Given the description of an element on the screen output the (x, y) to click on. 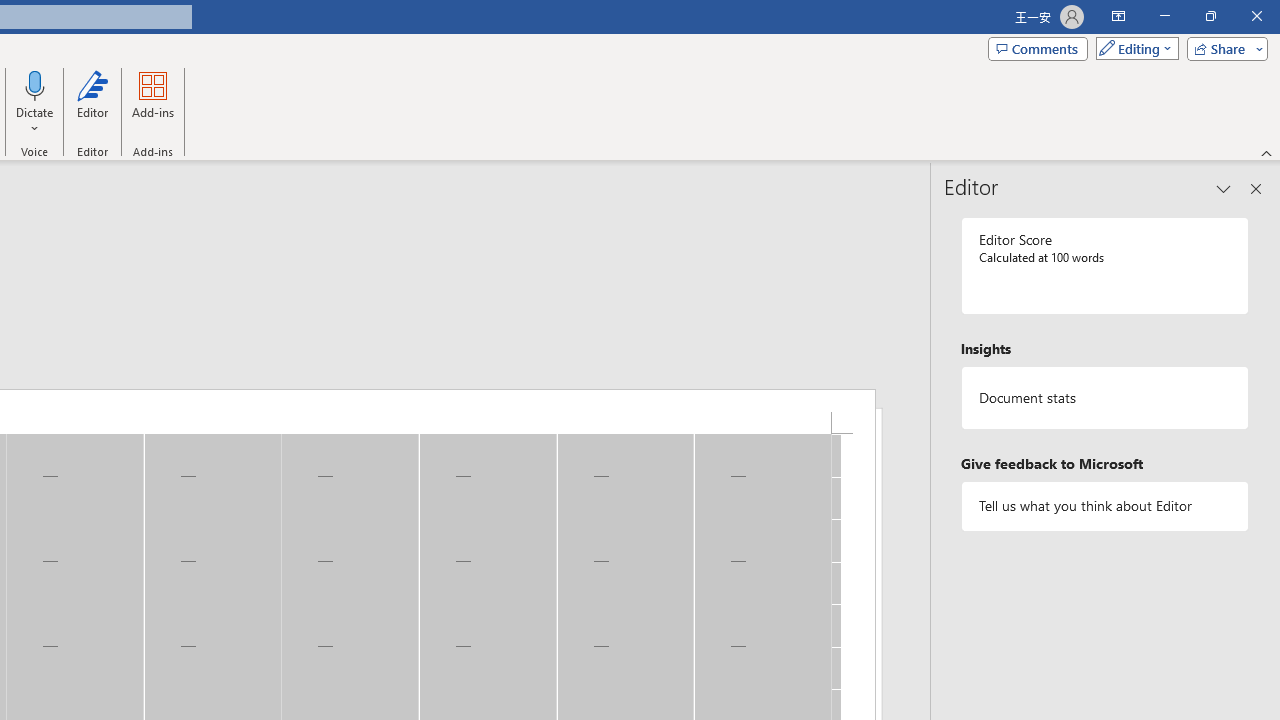
Tell us what you think about Editor (1105, 506)
Editor (92, 102)
Document statistics (1105, 398)
